Given the description of an element on the screen output the (x, y) to click on. 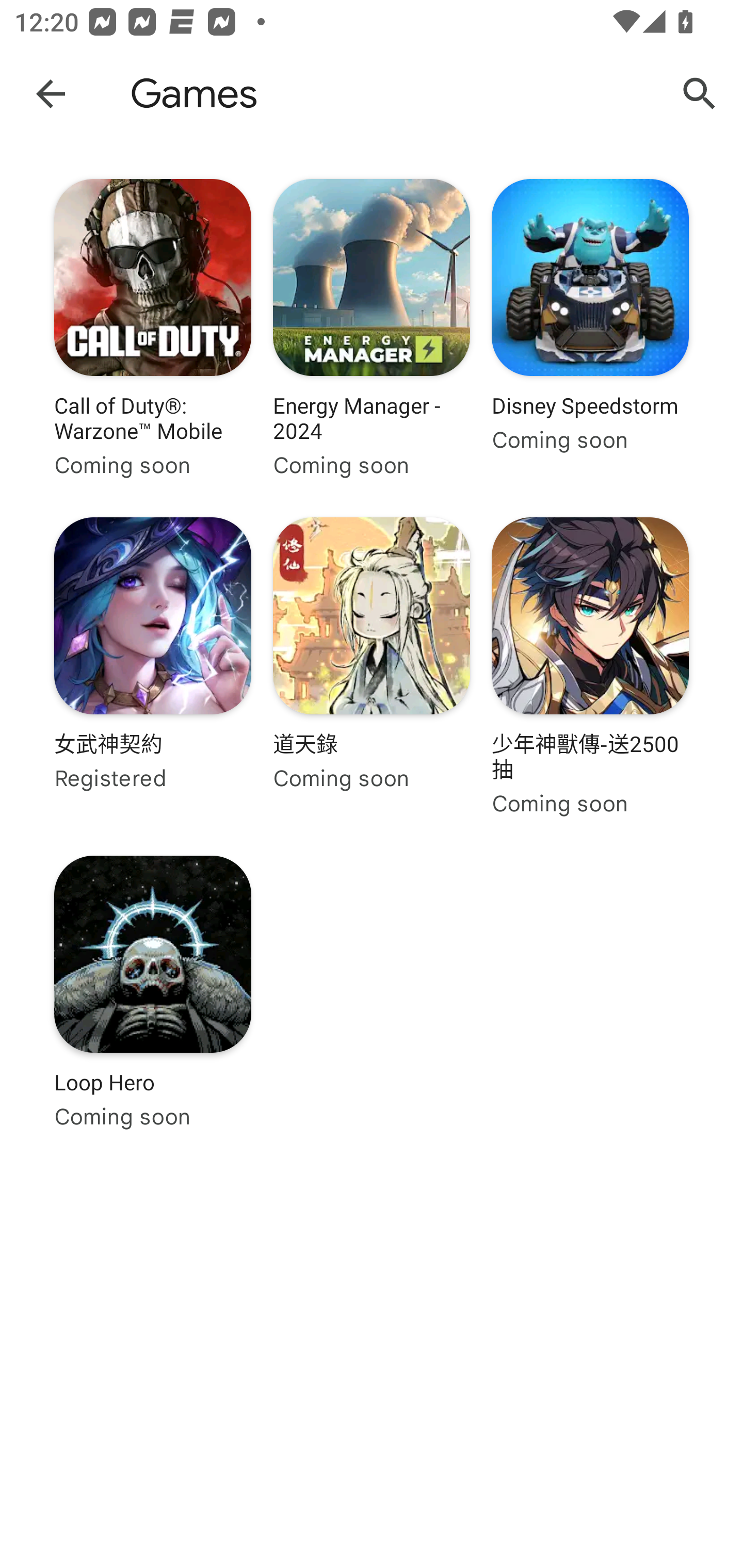
Navigate up (50, 92)
Search Google Play (699, 93)
App: Call of Duty®: Warzone™ Mobile

Coming soon
 (152, 328)
App: Energy Manager - 2024

Coming soon
 (371, 328)
App: Disney Speedstorm

Coming soon
 (589, 328)
App: 女武神契約

Registered
 (152, 666)
App: 道天錄

Coming soon
 (371, 666)
App: 少年神獸傳-送2500抽

Coming soon
 (589, 666)
App: Loop Hero

Coming soon
 (152, 1003)
